Given the description of an element on the screen output the (x, y) to click on. 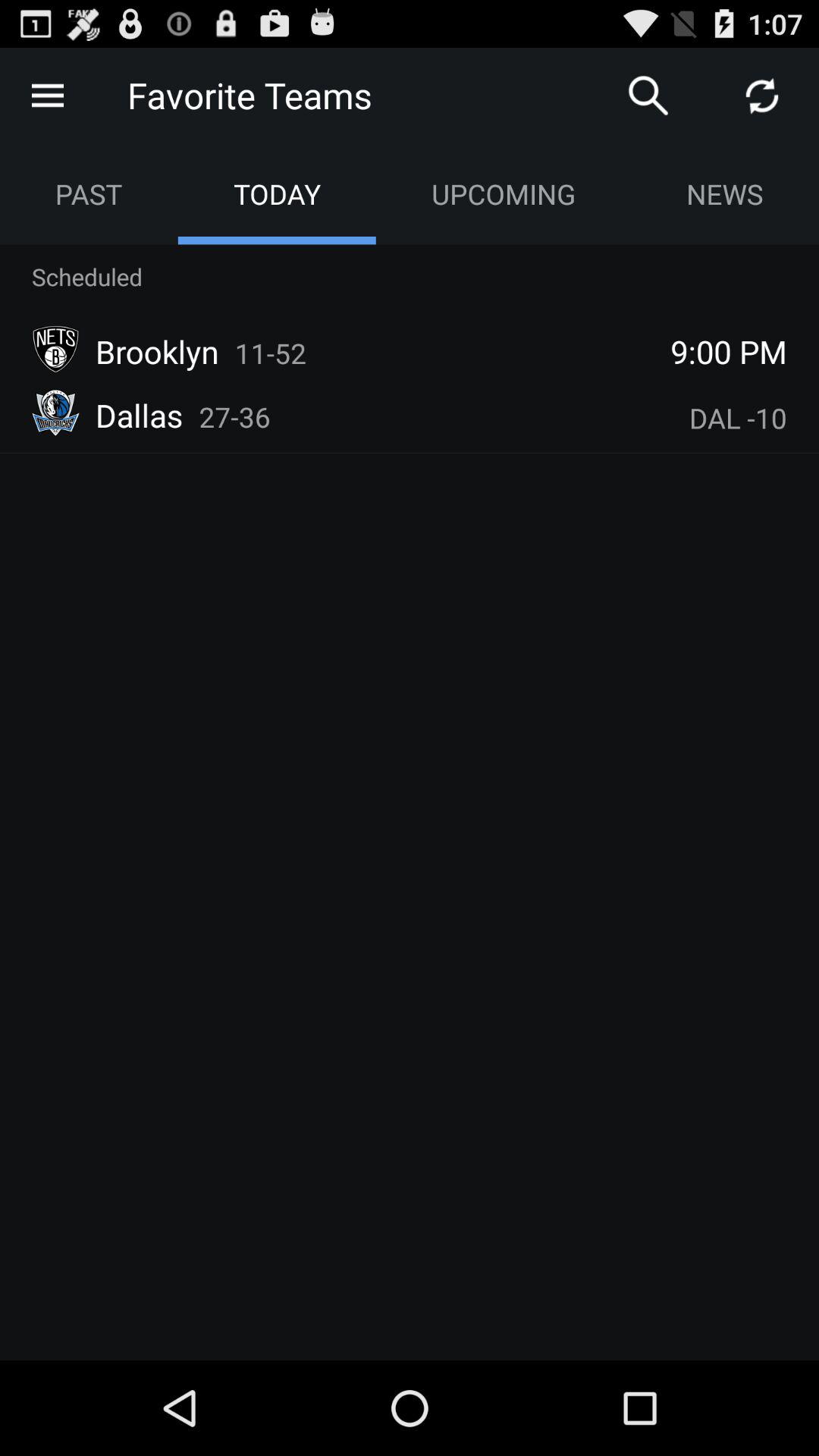
select item below 9:00 pm icon (738, 417)
